Given the description of an element on the screen output the (x, y) to click on. 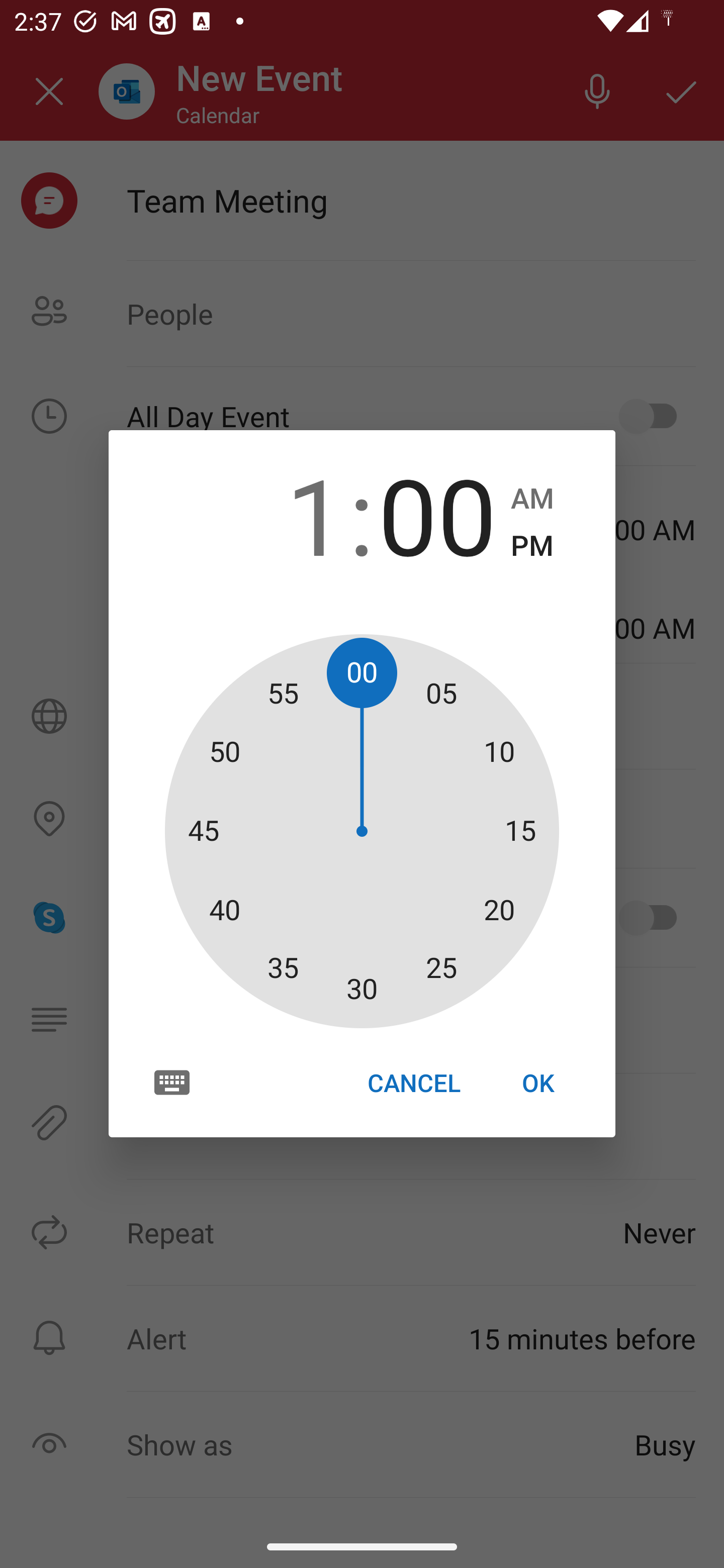
1 (285, 513)
00 (436, 513)
AM (532, 498)
PM (532, 546)
CANCEL (413, 1082)
OK (537, 1082)
Switch to text input mode for the time input. (171, 1081)
